Given the description of an element on the screen output the (x, y) to click on. 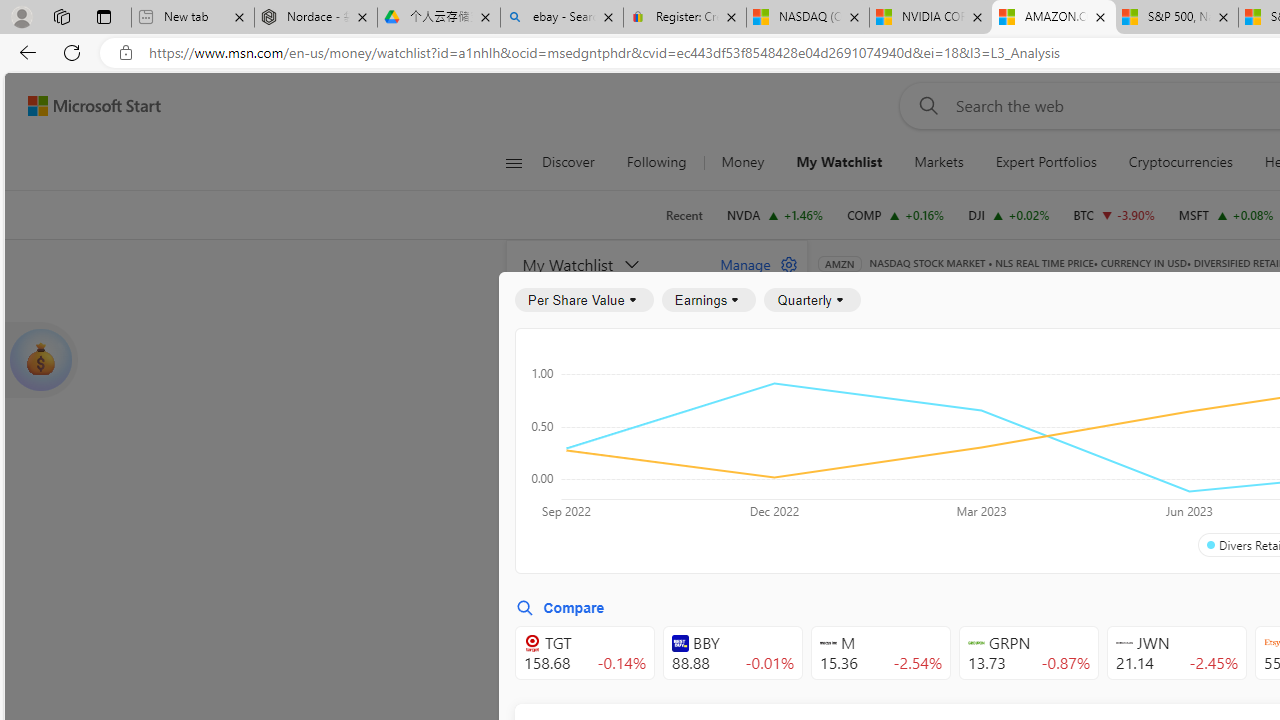
ebay - Search (561, 17)
Web search (924, 105)
Compare (559, 608)
Register: Create a personal eBay account (684, 17)
Expert Portfolios (1046, 162)
Expert Portfolios (1045, 162)
show card (40, 359)
Watchlist (1152, 291)
Cash Flow (1166, 391)
Profitability (1164, 445)
Per Share Value (584, 300)
Following (658, 162)
add to your watchlist (786, 680)
Annual (865, 503)
Back (24, 52)
